Given the description of an element on the screen output the (x, y) to click on. 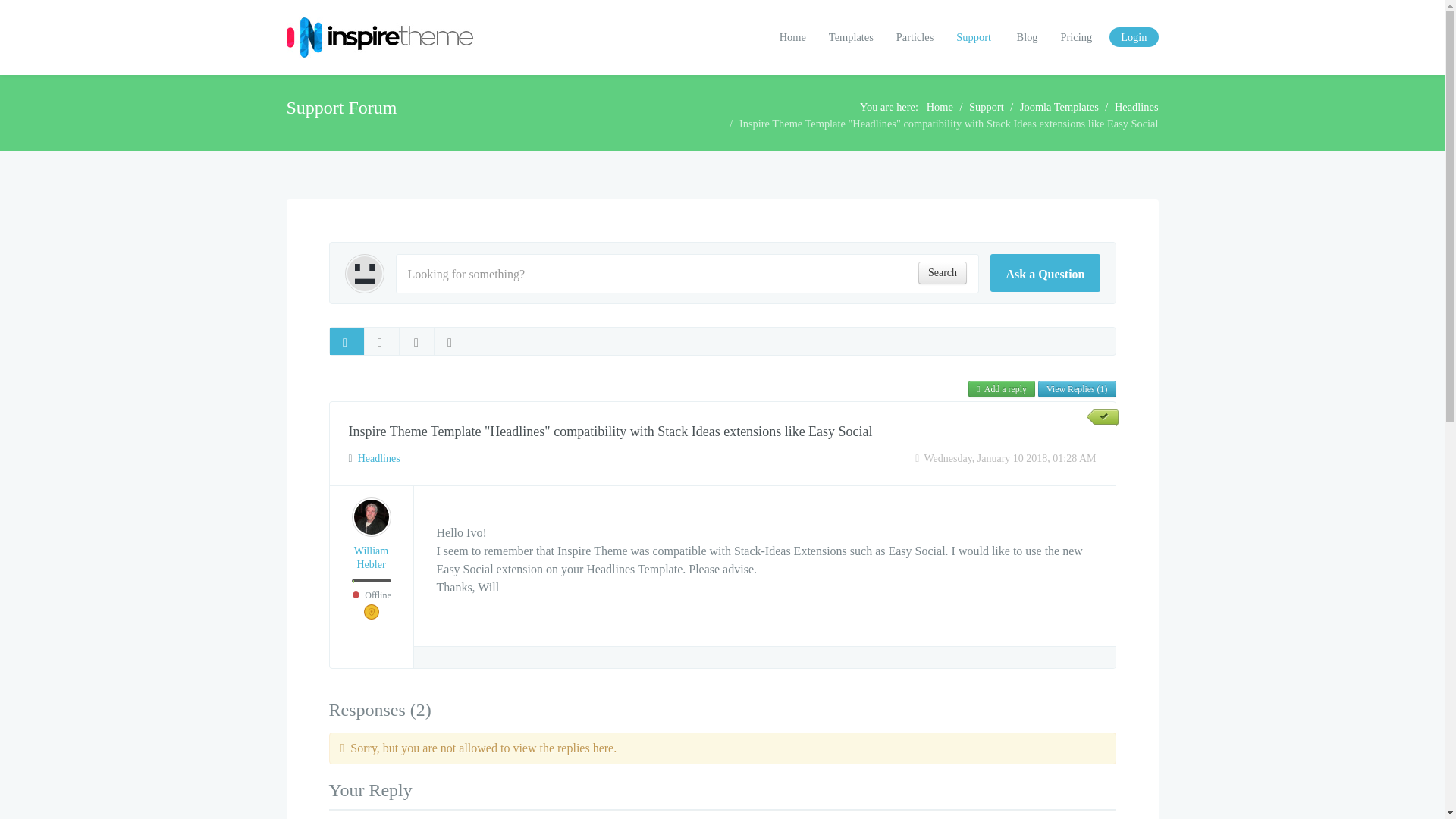
Home (792, 37)
InspireTheme (381, 37)
Headlines (379, 458)
Joomla Templates (1059, 106)
Home (939, 106)
Login (1133, 37)
Ask a Question (1044, 272)
Support (986, 106)
Support (974, 37)
